Given the description of an element on the screen output the (x, y) to click on. 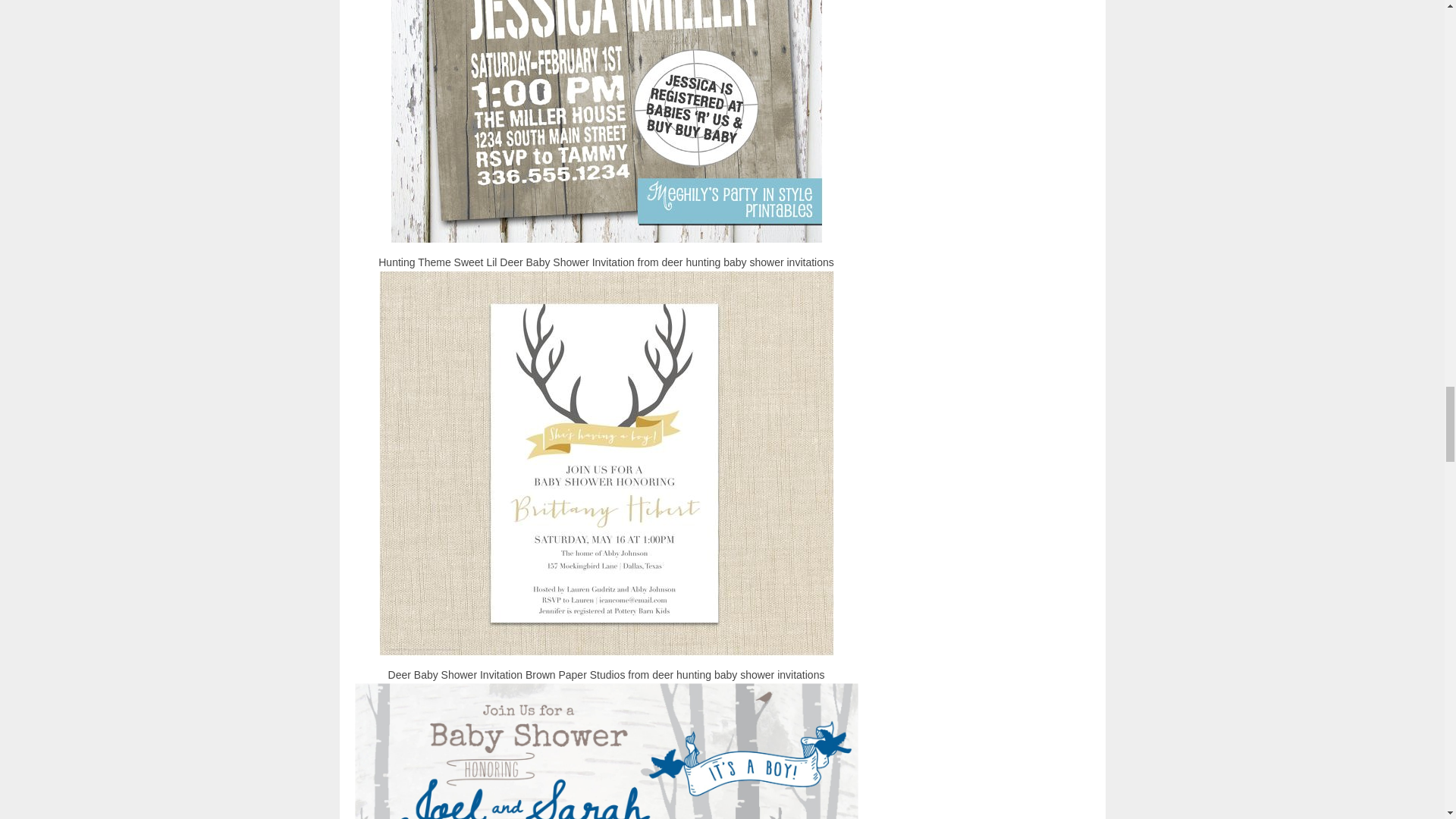
Deer Woodland Baby Shower Invitation DIGITAL FILE (607, 751)
Hunting Theme Sweet Lil Deer Baby Shower Invitation (606, 121)
